Given the description of an element on the screen output the (x, y) to click on. 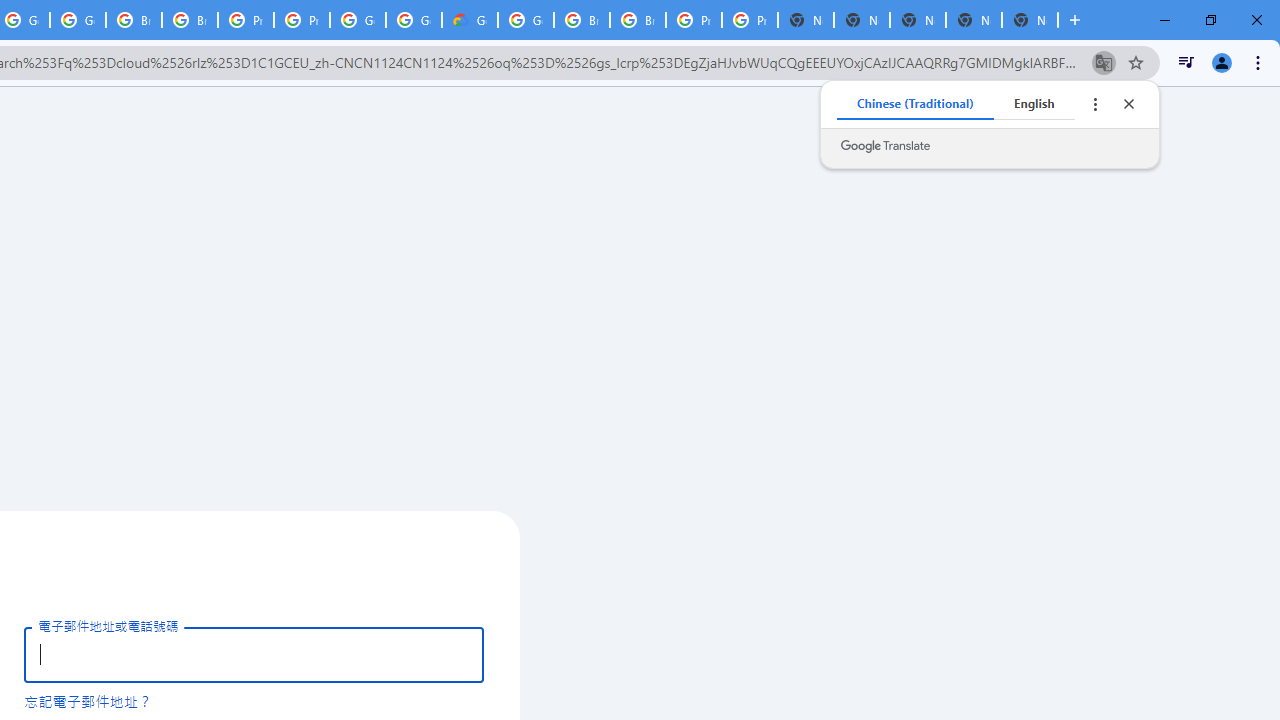
Browse Chrome as a guest - Computer - Google Chrome Help (189, 20)
Browse Chrome as a guest - Computer - Google Chrome Help (637, 20)
New Tab (1030, 20)
Translate this page (1103, 62)
Browse Chrome as a guest - Computer - Google Chrome Help (582, 20)
Chinese (Traditional) (915, 103)
Google Cloud Estimate Summary (469, 20)
